Given the description of an element on the screen output the (x, y) to click on. 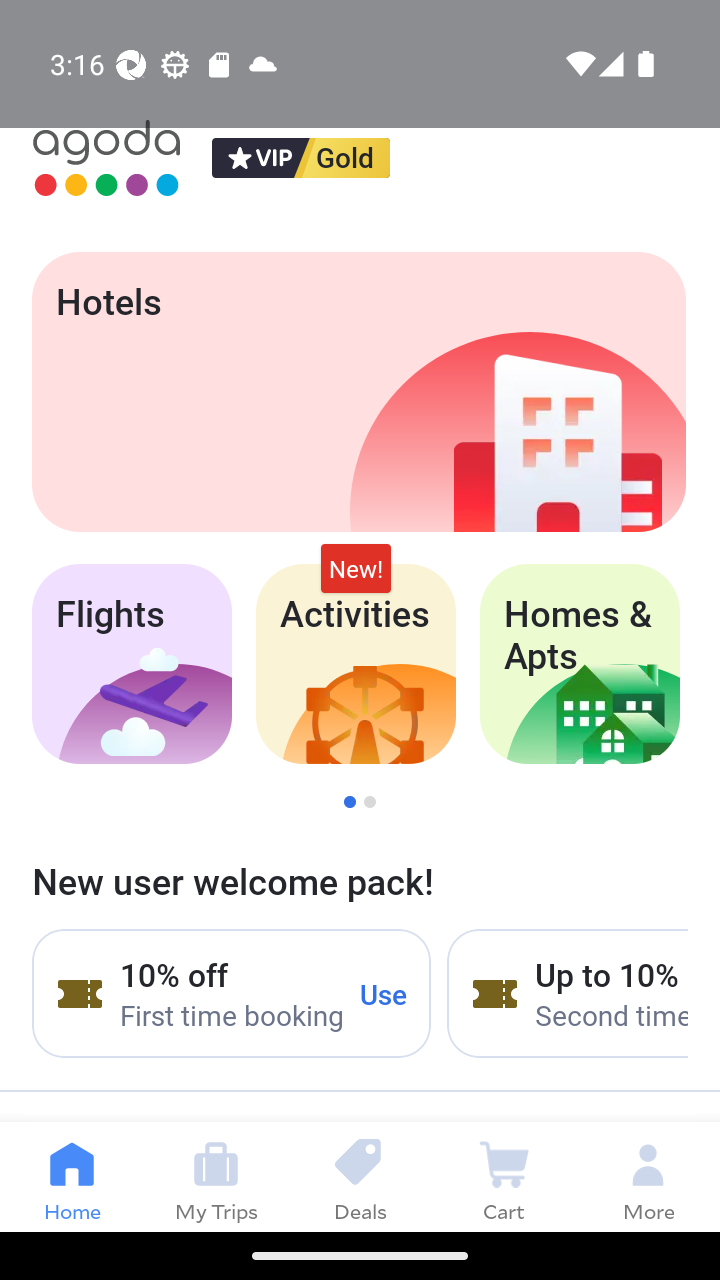
Hotels (358, 392)
New! (355, 568)
Flights (131, 664)
Activities (355, 664)
Homes & Apts (579, 664)
Use (384, 993)
Home (72, 1176)
My Trips (216, 1176)
Deals (360, 1176)
Cart (504, 1176)
More (648, 1176)
